Given the description of an element on the screen output the (x, y) to click on. 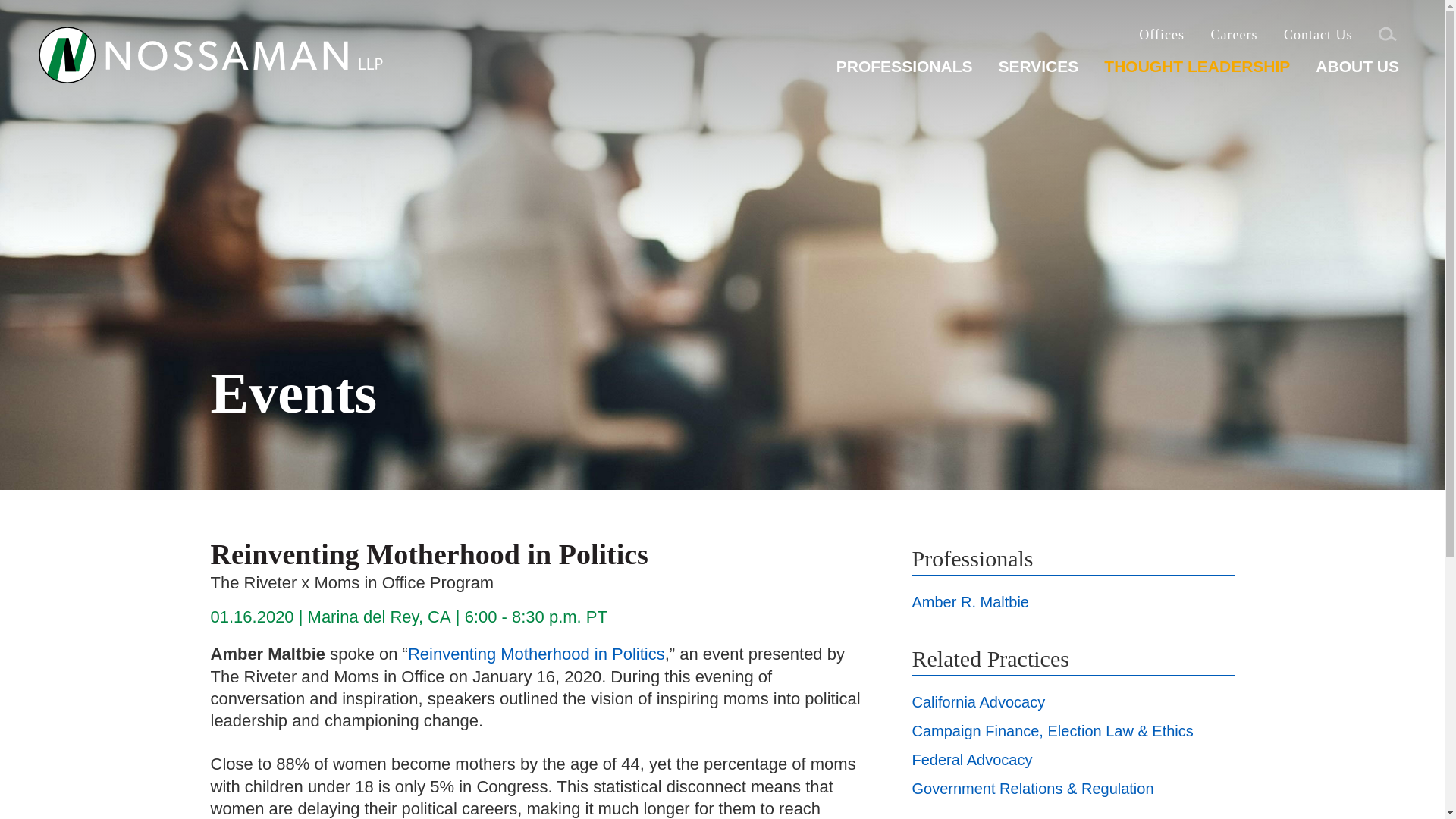
PROFESSIONALS (904, 72)
California Advocacy (978, 234)
Federal Advocacy (971, 291)
Share on Facebook (237, 602)
SERVICES (1037, 72)
Share on Twitter (218, 602)
Share on LinkedIn (257, 602)
Amber R. Maltbie (970, 134)
Reinventing Motherhood in Politics (536, 185)
